Given the description of an element on the screen output the (x, y) to click on. 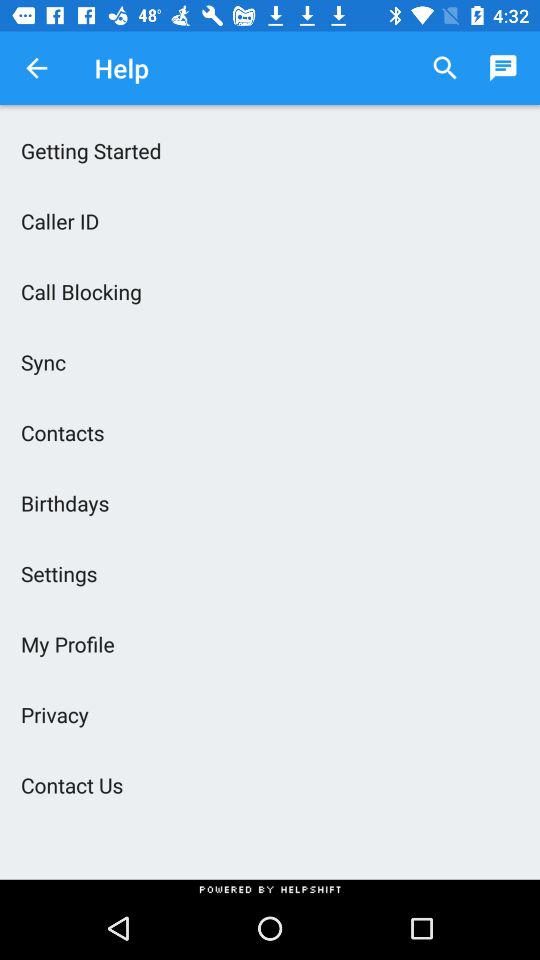
select the icon above the call blocking (270, 220)
